Given the description of an element on the screen output the (x, y) to click on. 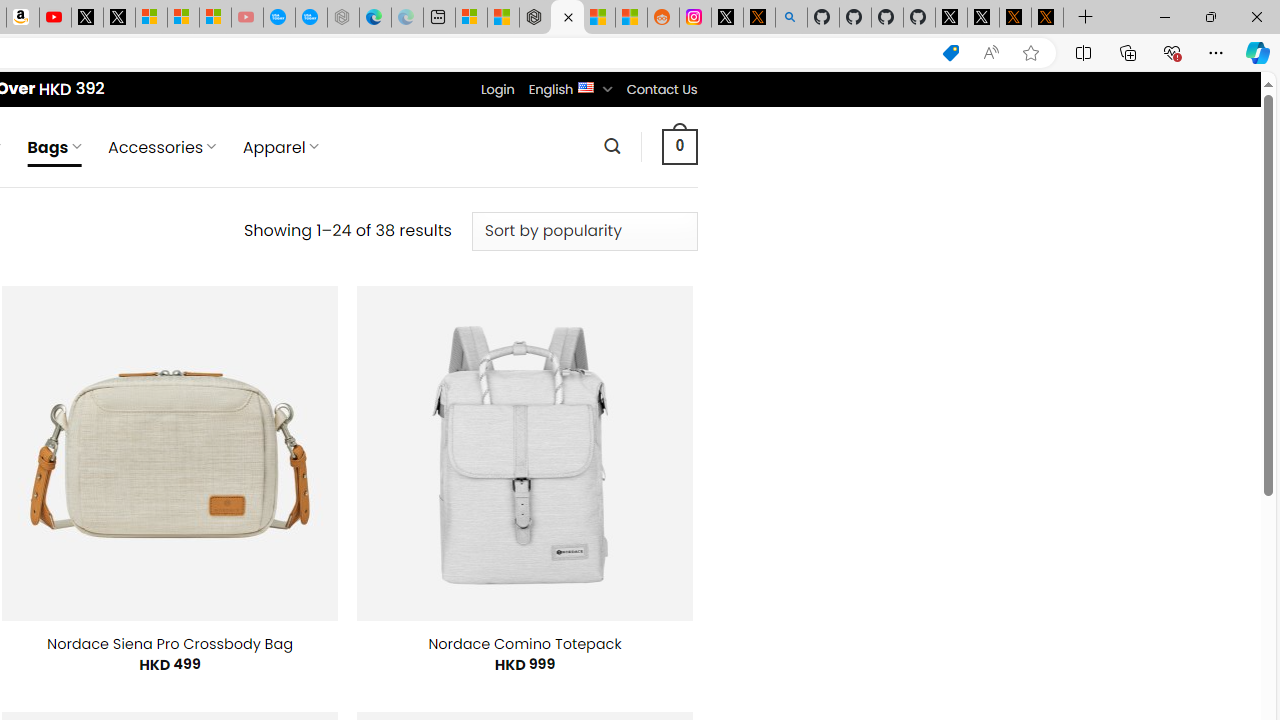
github - Search (791, 17)
Contact Us (661, 89)
Nordace Comino Totepack (524, 643)
New Tab (1085, 17)
Copilot (Ctrl+Shift+.) (1258, 52)
Log in to X / X (727, 17)
help.x.com | 524: A timeout occurred (758, 17)
 0  (679, 146)
X Privacy Policy (1047, 17)
Close (1256, 16)
